Given the description of an element on the screen output the (x, y) to click on. 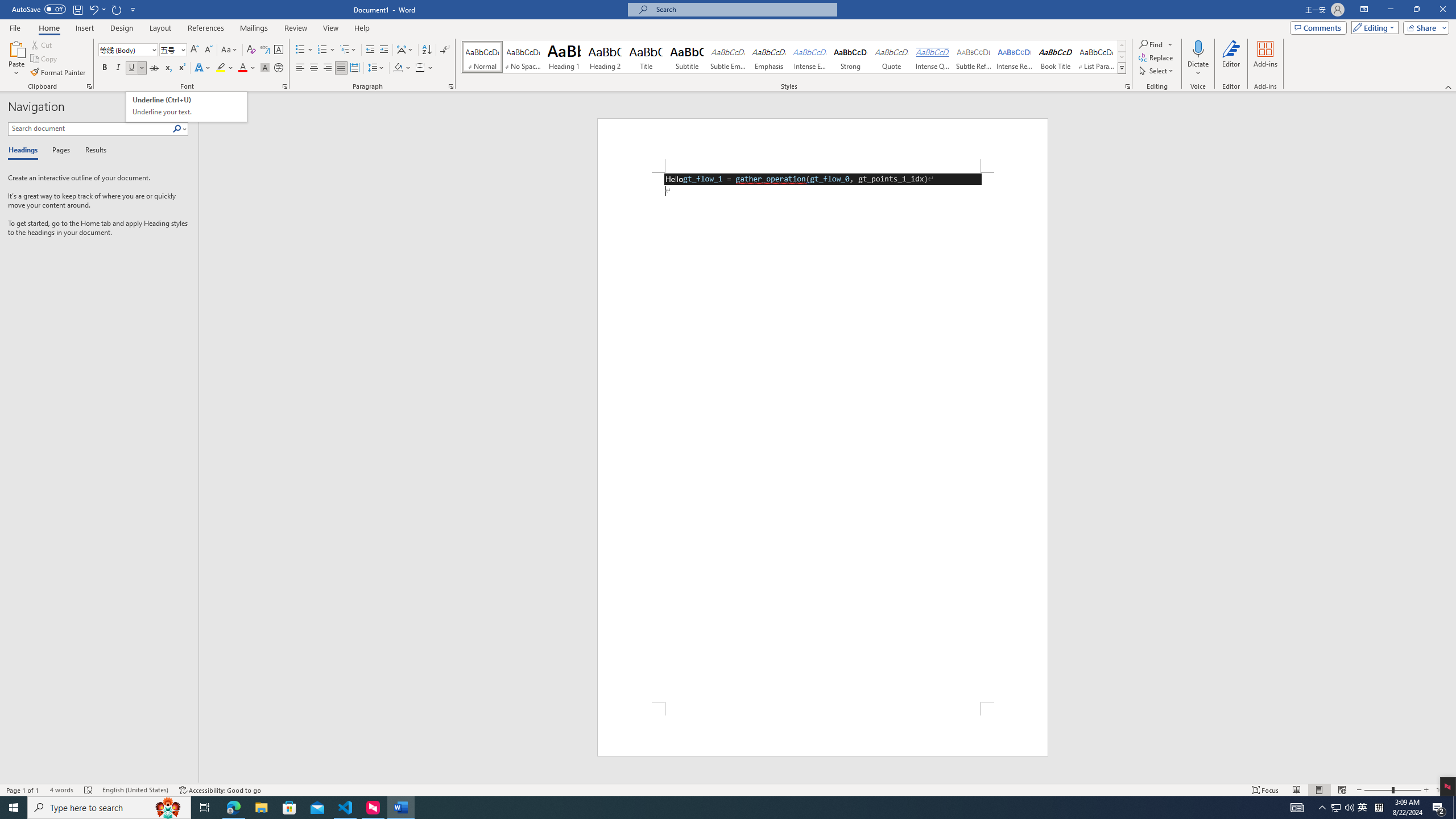
Undo Underline Style (96, 9)
Repeat Underline Style (117, 9)
